Given the description of an element on the screen output the (x, y) to click on. 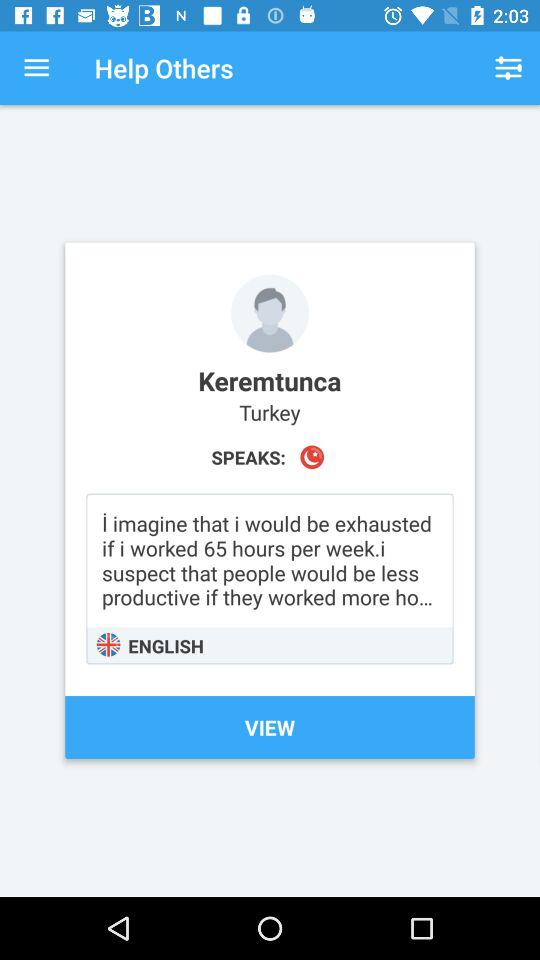
correct this text (269, 578)
